Given the description of an element on the screen output the (x, y) to click on. 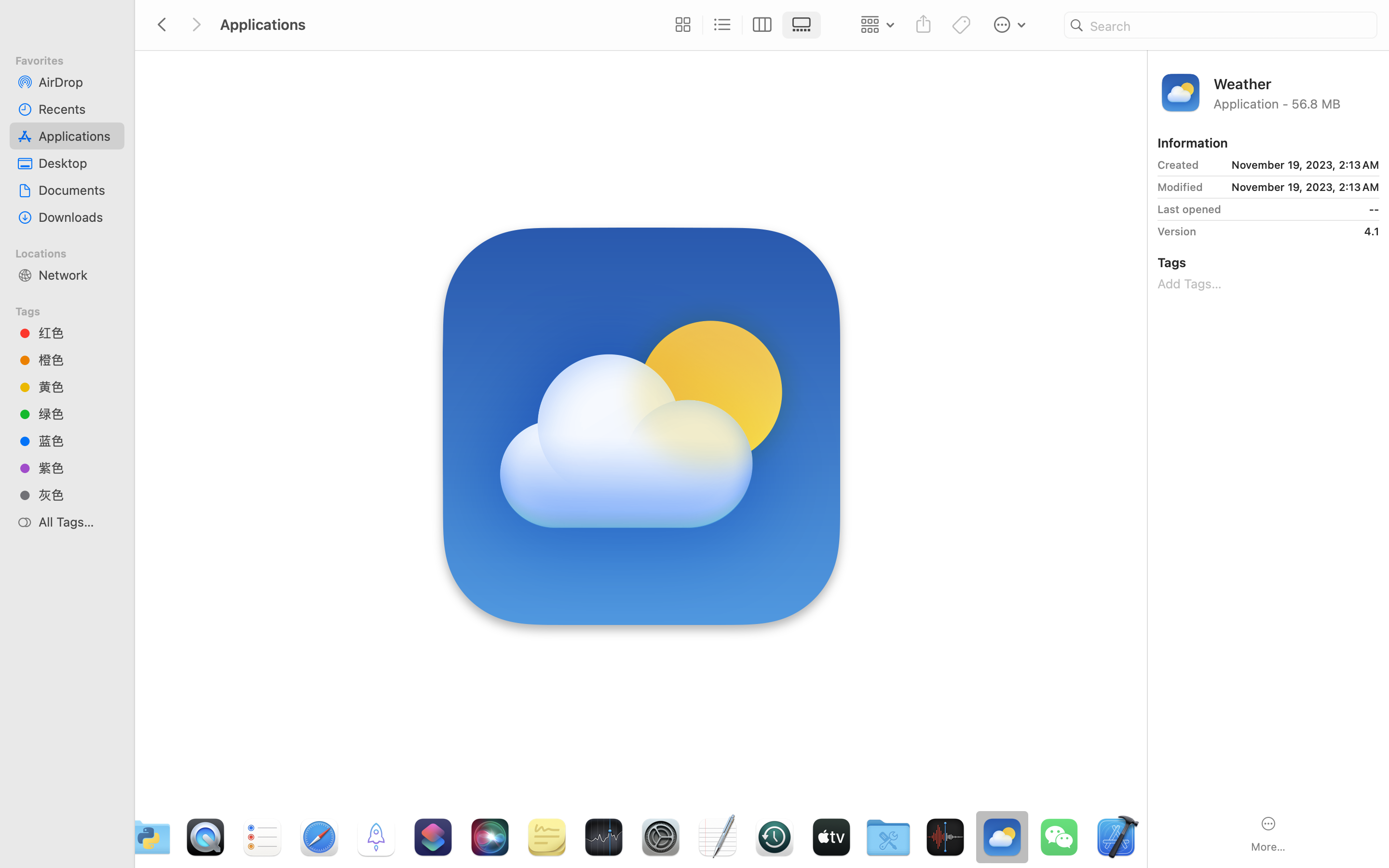
紫色 Element type: AXStaticText (77, 467)
Application - 56.8 MB Element type: AXStaticText (1296, 102)
Recents Element type: AXStaticText (77, 108)
<AXUIElement 0x1490722a0> {pid=510} Element type: AXRadioGroup (741, 24)
蓝色 Element type: AXStaticText (77, 440)
